Given the description of an element on the screen output the (x, y) to click on. 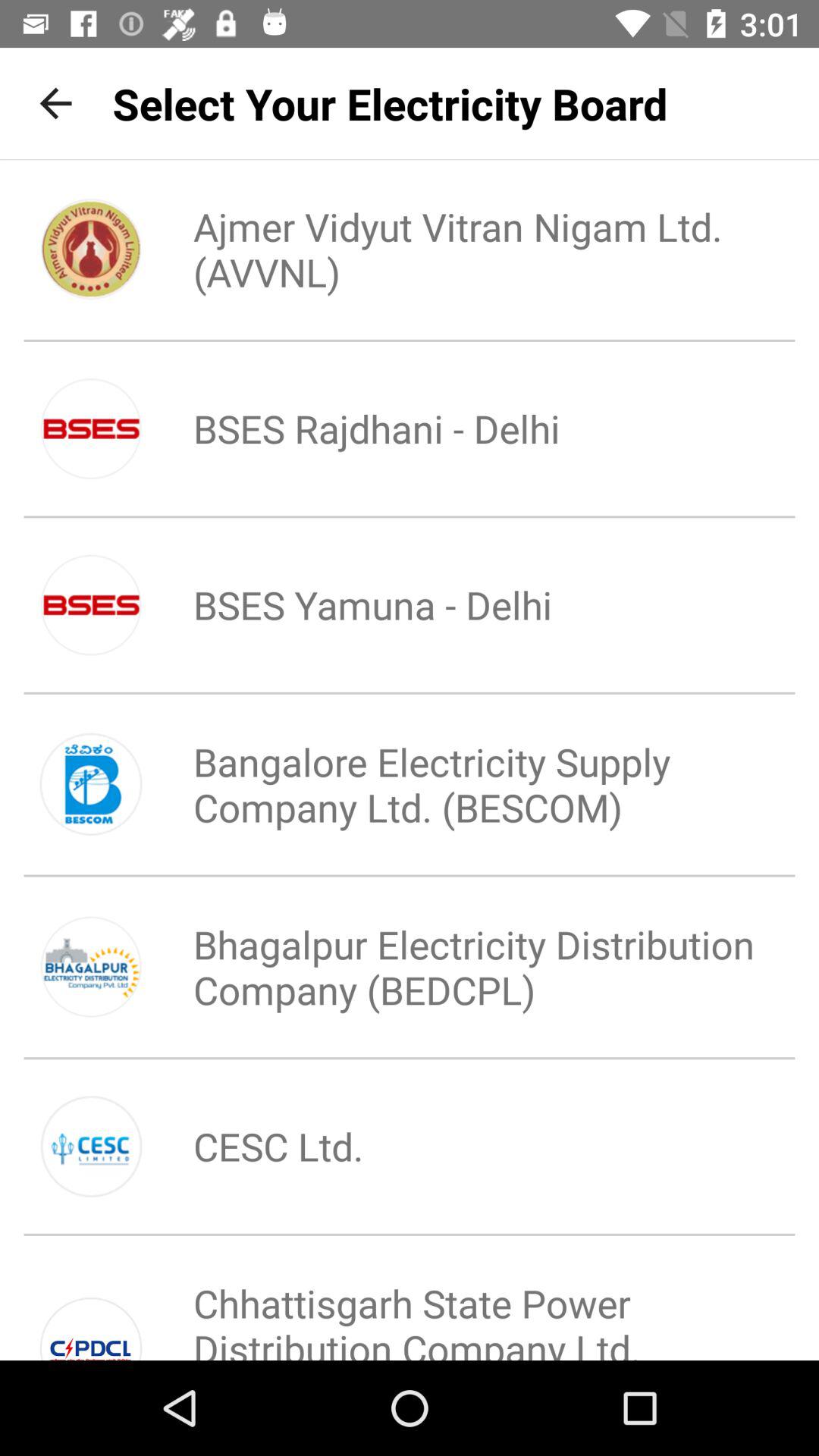
click the cesc ltd. icon (252, 1145)
